Given the description of an element on the screen output the (x, y) to click on. 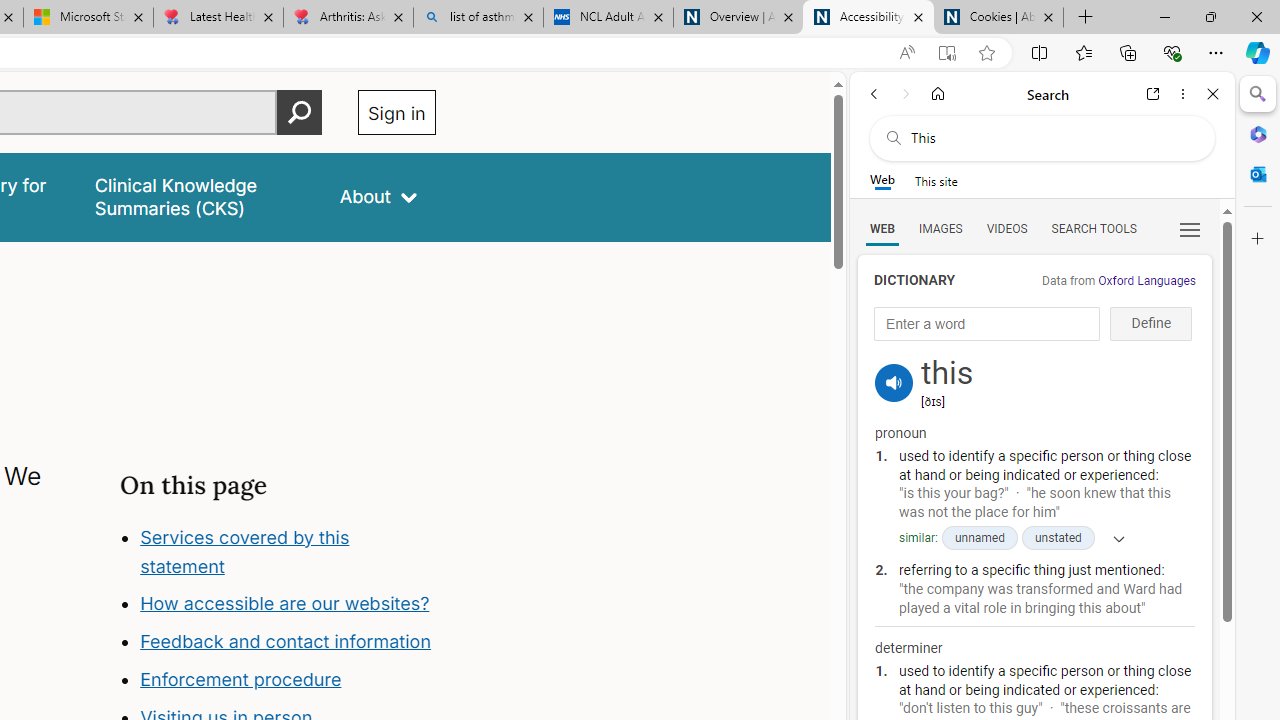
Show more (1112, 538)
pronounce (893, 382)
unnamed (978, 538)
Services covered by this statement (287, 551)
Perform search (299, 112)
How accessible are our websites? (284, 603)
